Given the description of an element on the screen output the (x, y) to click on. 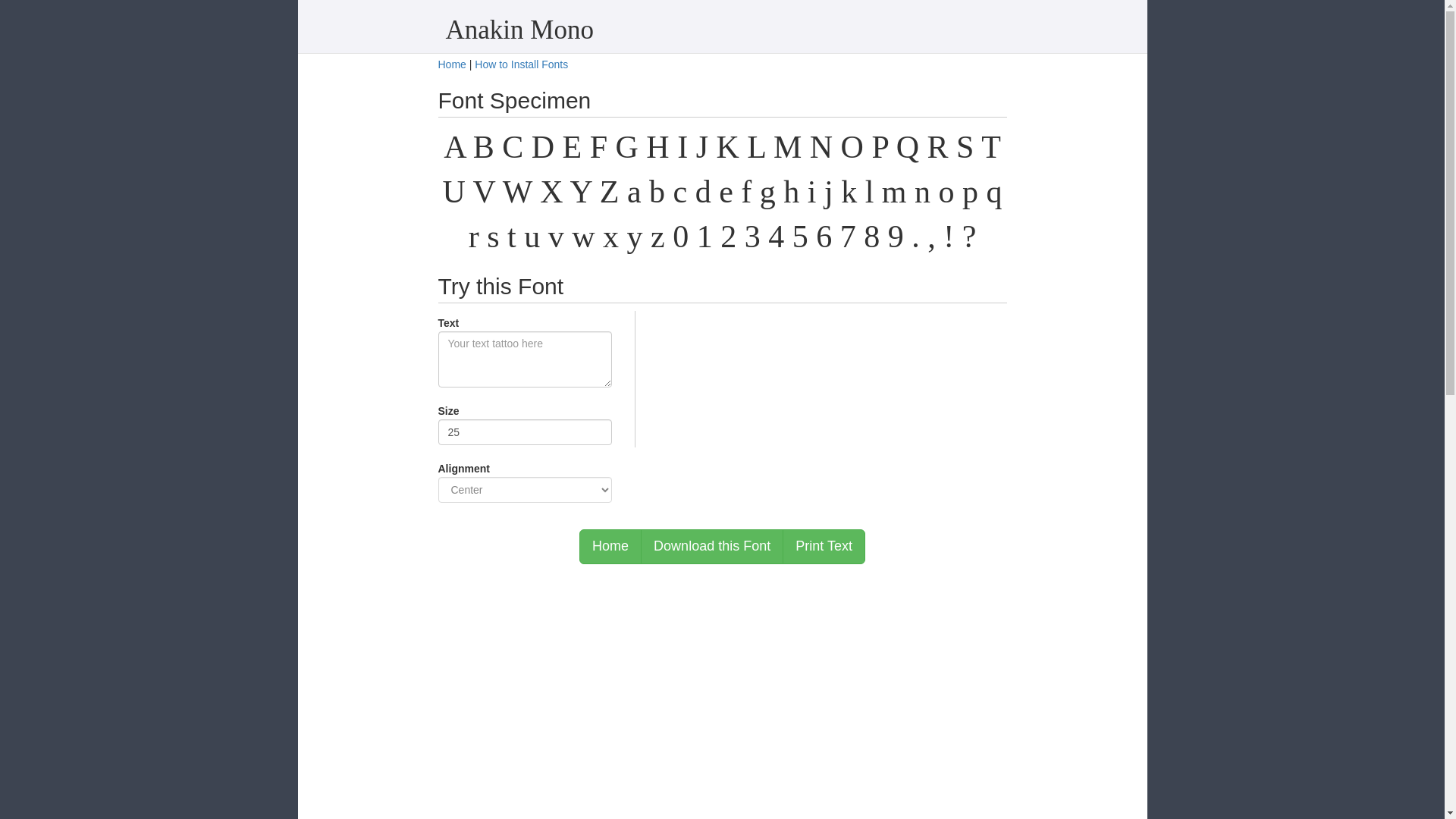
How to Install Fonts (520, 64)
Print Text (823, 546)
25 (525, 432)
Home (451, 64)
Home (610, 546)
Download this Font (711, 546)
